Given the description of an element on the screen output the (x, y) to click on. 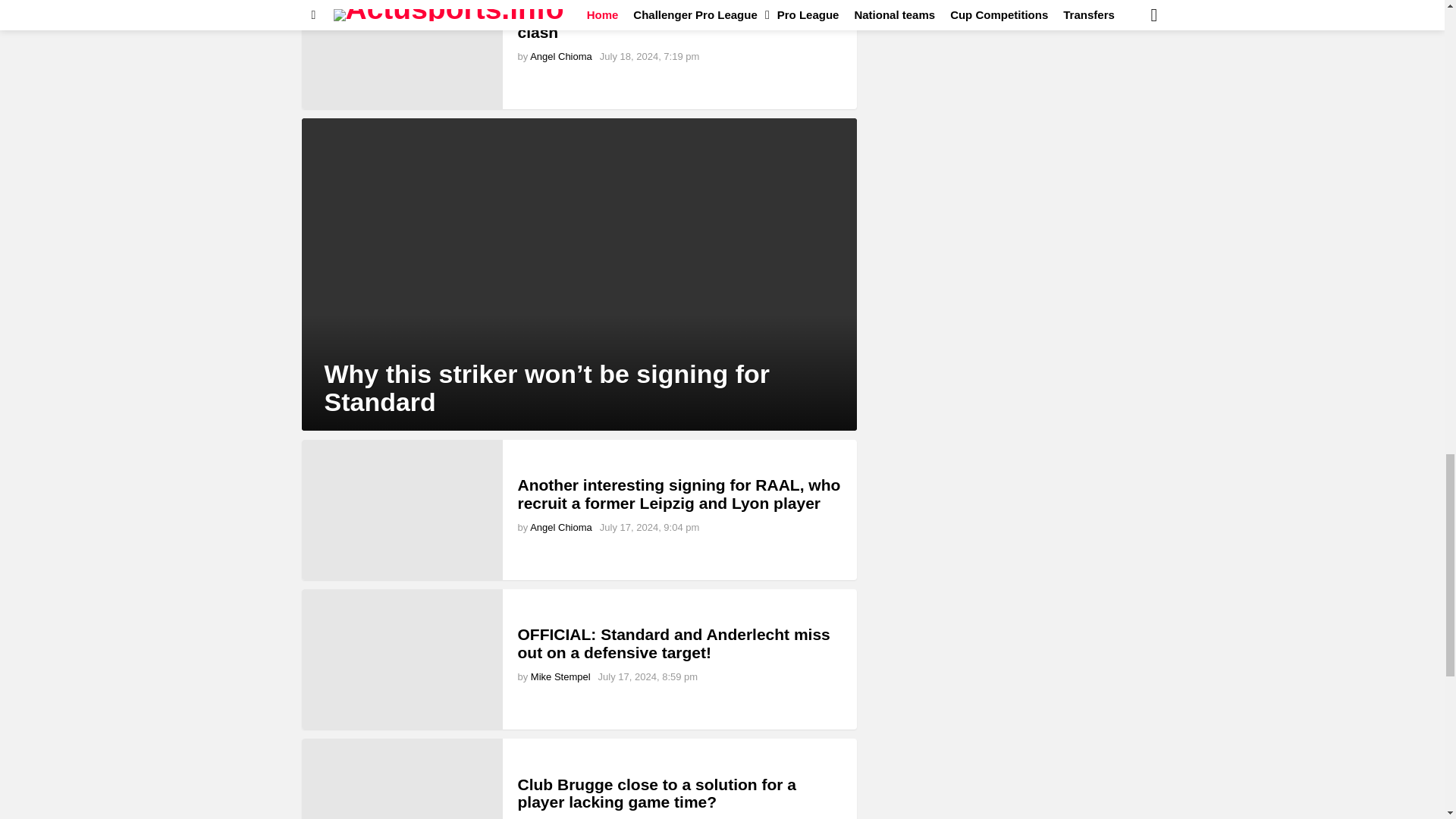
Several Genk players out for Standard clash (401, 54)
Posts by Angel Chioma (560, 56)
